Given the description of an element on the screen output the (x, y) to click on. 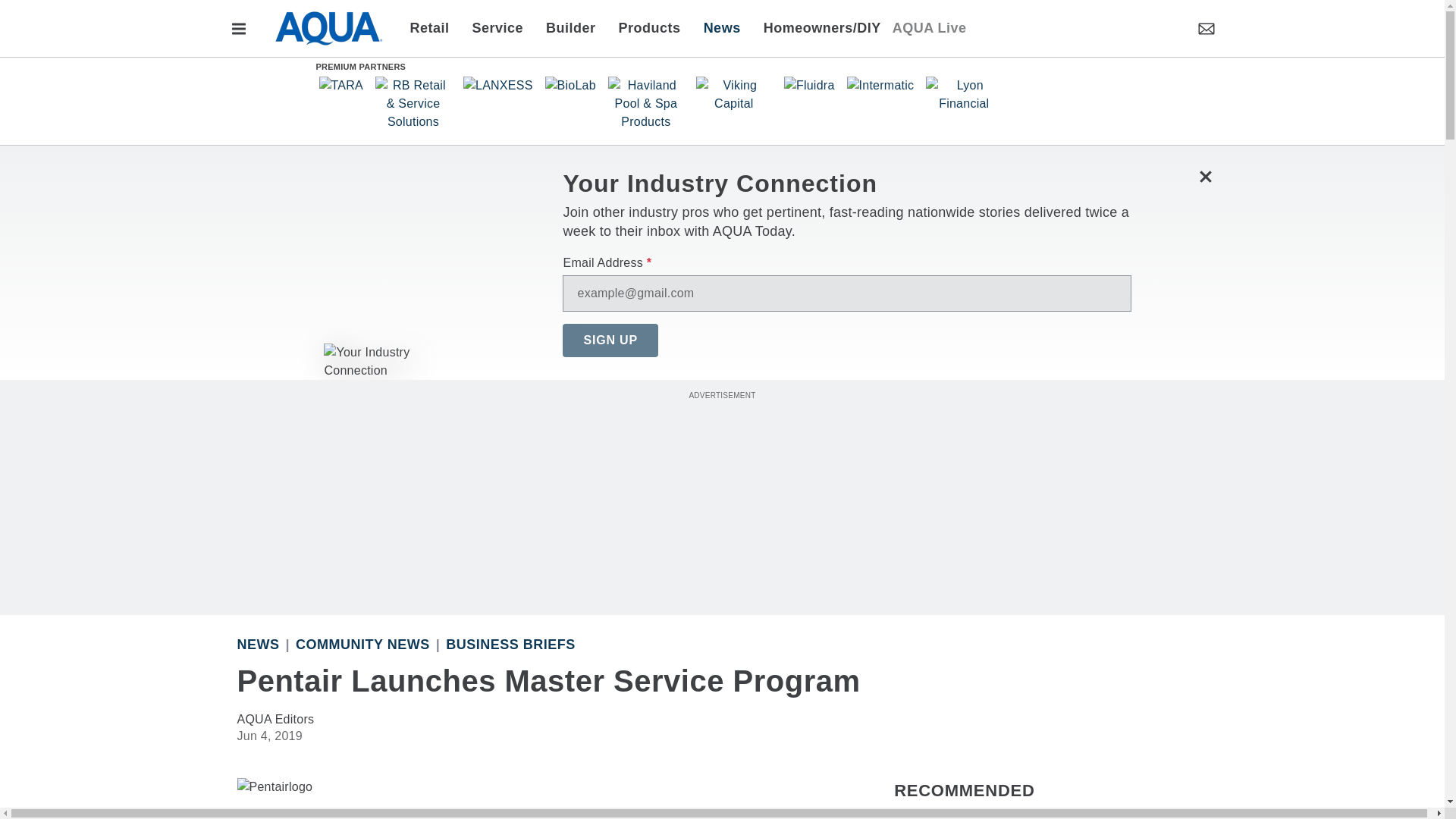
LANXESS (497, 85)
AQUA Live (929, 27)
Retail (434, 27)
Service (498, 27)
Products (650, 27)
Builder (570, 27)
TARA (340, 85)
News (722, 27)
